Given the description of an element on the screen output the (x, y) to click on. 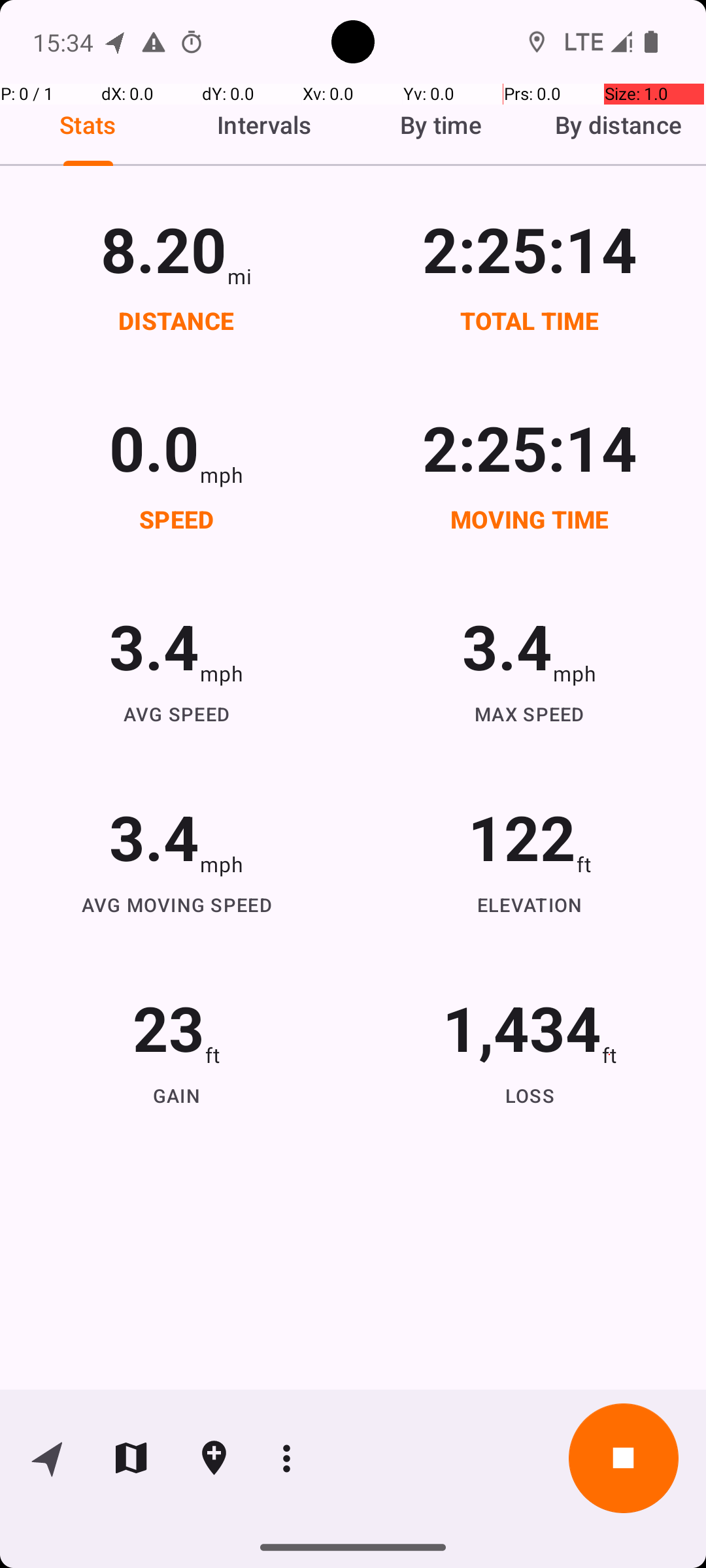
Insert marker Element type: android.widget.Button (213, 1458)
8.20 Element type: android.widget.TextView (163, 248)
2:25:15 Element type: android.widget.TextView (529, 248)
0.0 Element type: android.widget.TextView (154, 446)
2:25:14 Element type: android.widget.TextView (529, 446)
3.4 Element type: android.widget.TextView (154, 645)
122 Element type: android.widget.TextView (521, 836)
1,434 Element type: android.widget.TextView (521, 1026)
OpenTracks notification: Distance: 8.20 mi Element type: android.widget.ImageView (115, 41)
